Given the description of an element on the screen output the (x, y) to click on. 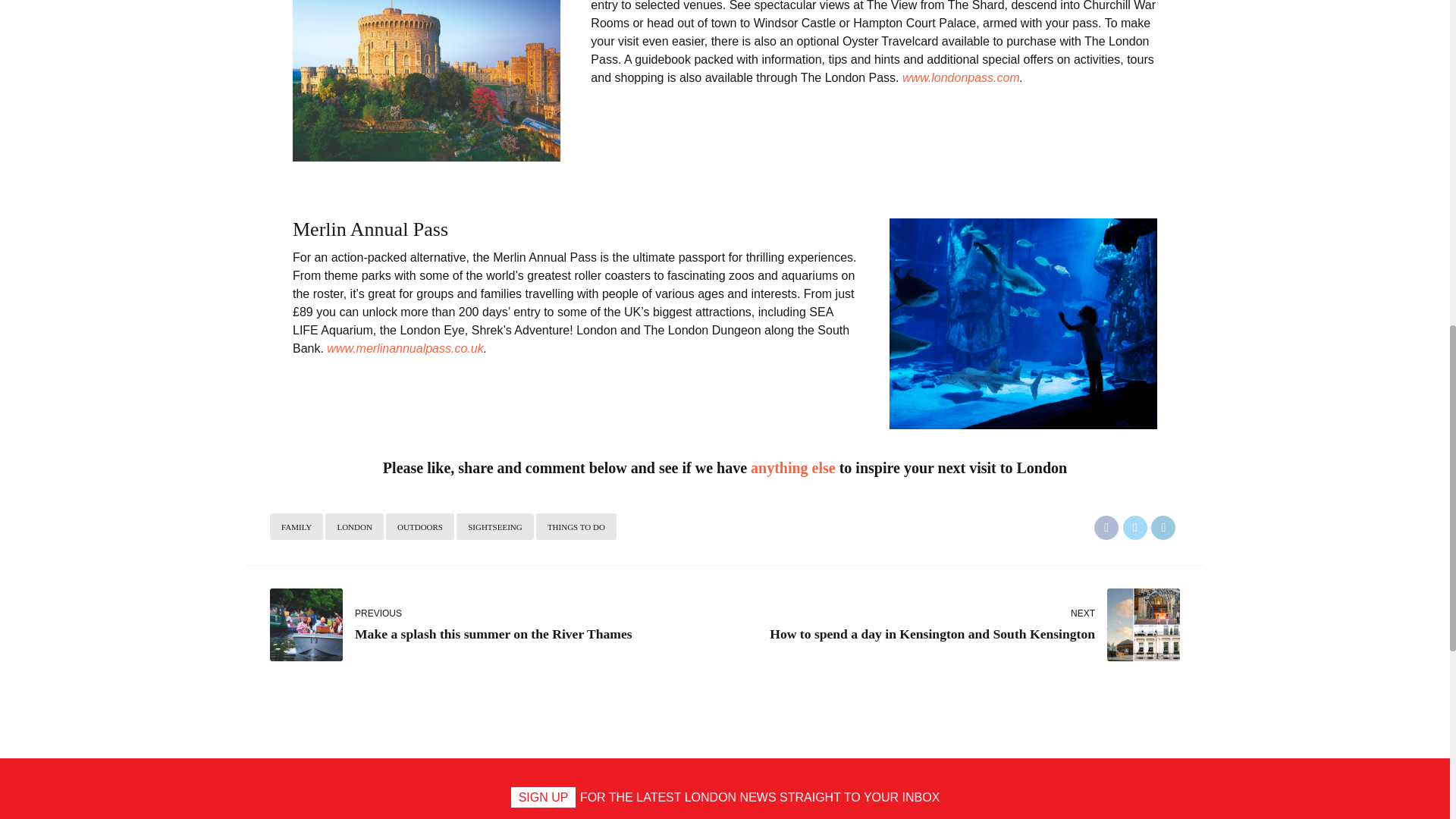
SIGN UP (543, 797)
LONDON (353, 526)
anything else (497, 624)
SIGHTSEEING (793, 467)
Share on Facebook (494, 526)
THINGS TO DO (1106, 527)
OUTDOORS (575, 526)
www.londonpass.com (952, 624)
FAMILY (419, 526)
Share on Twitter (961, 77)
Share on Linkedin (296, 526)
www.merlinannualpass.co.uk (1134, 527)
